Given the description of an element on the screen output the (x, y) to click on. 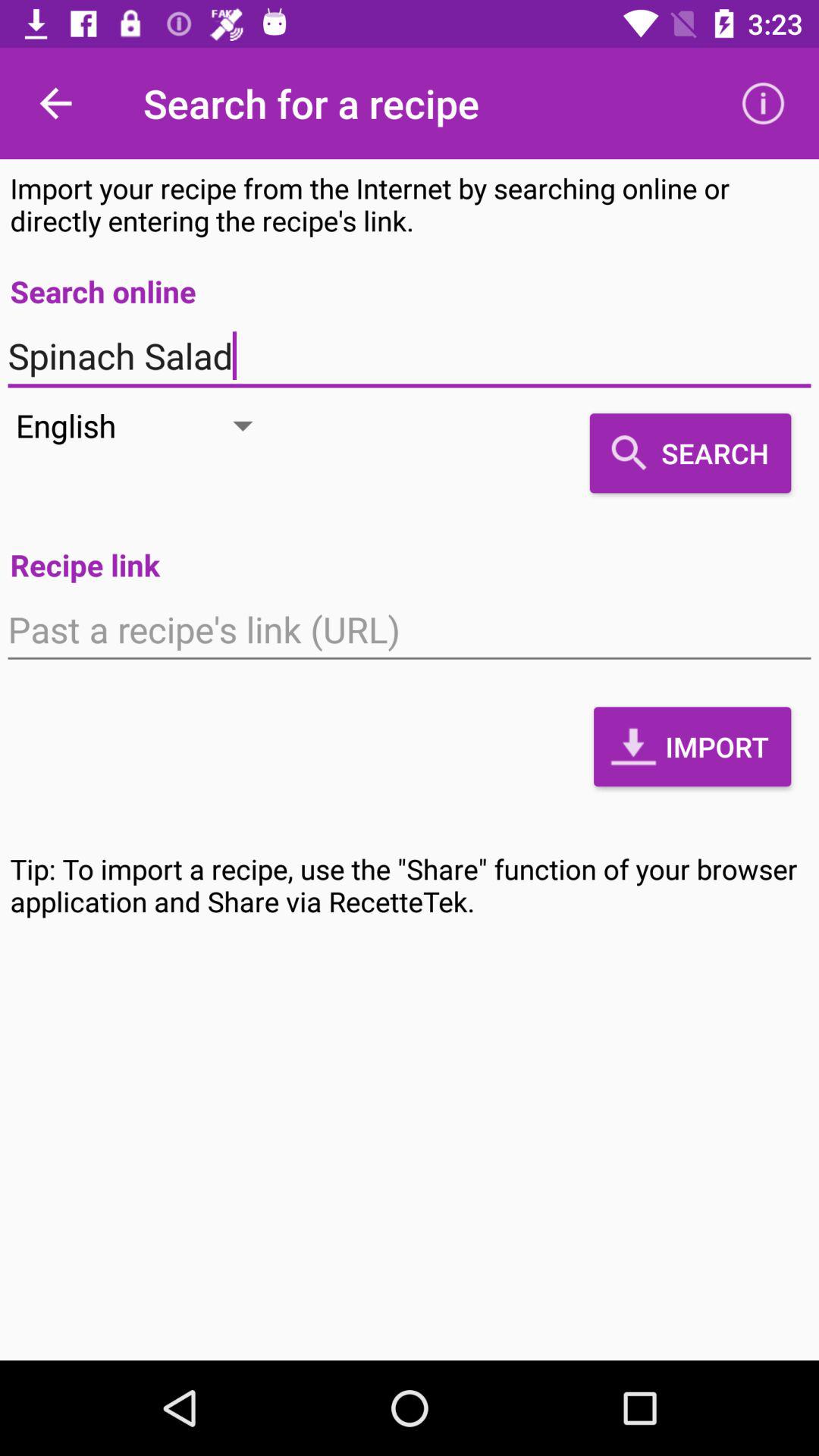
click spinach salad (409, 356)
